Given the description of an element on the screen output the (x, y) to click on. 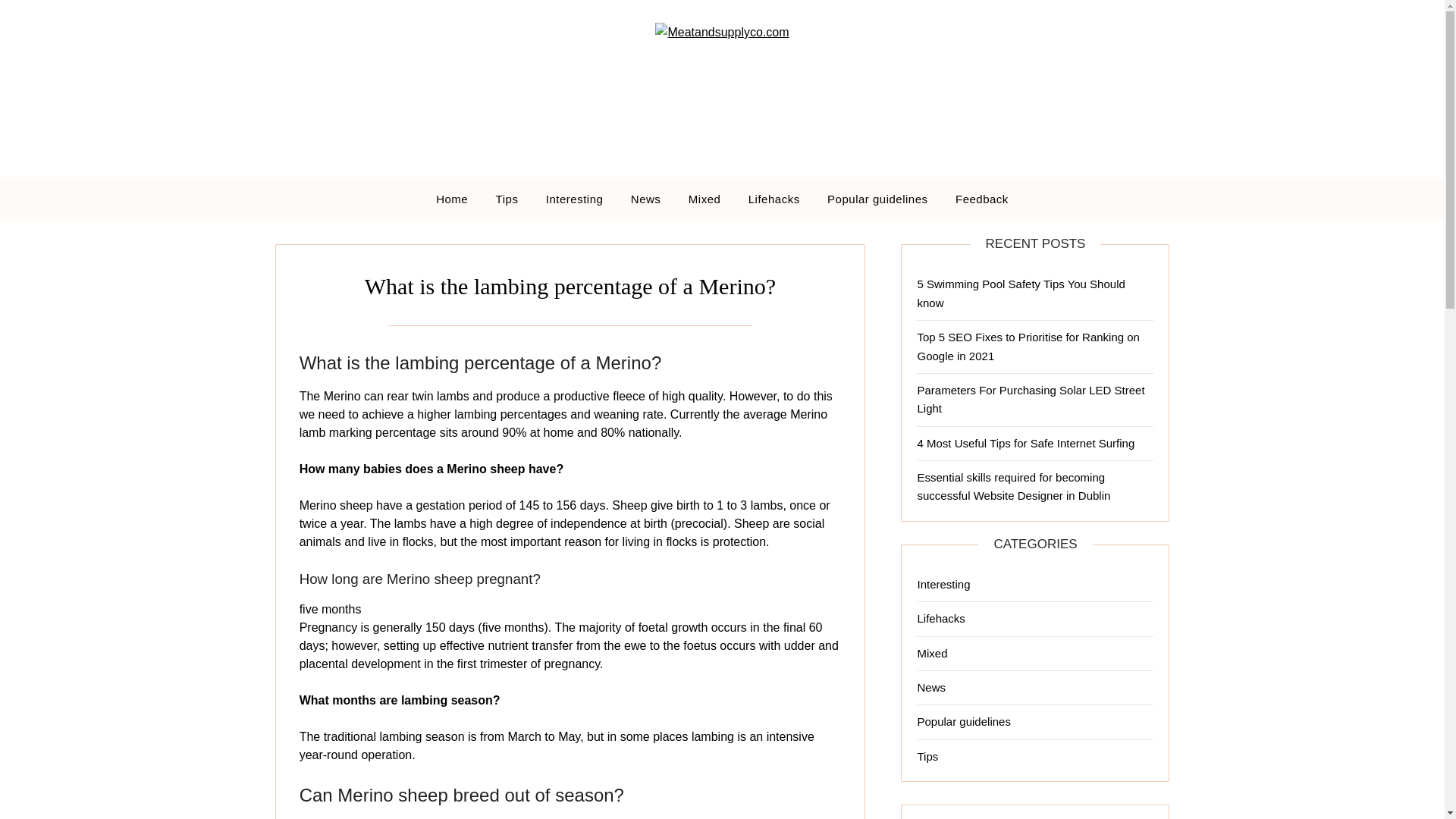
Interesting (574, 199)
Top 5 SEO Fixes to Prioritise for Ranking on Google in 2021 (1027, 345)
Interesting (943, 584)
Popular guidelines (877, 199)
4 Most Useful Tips for Safe Internet Surfing (1025, 442)
5 Swimming Pool Safety Tips You Should know (1020, 292)
Home (451, 199)
Lifehacks (774, 199)
Tips (507, 199)
Tips (927, 756)
Feedback (981, 199)
Mixed (705, 199)
News (930, 686)
Parameters For Purchasing Solar LED Street Light (1030, 399)
